Given the description of an element on the screen output the (x, y) to click on. 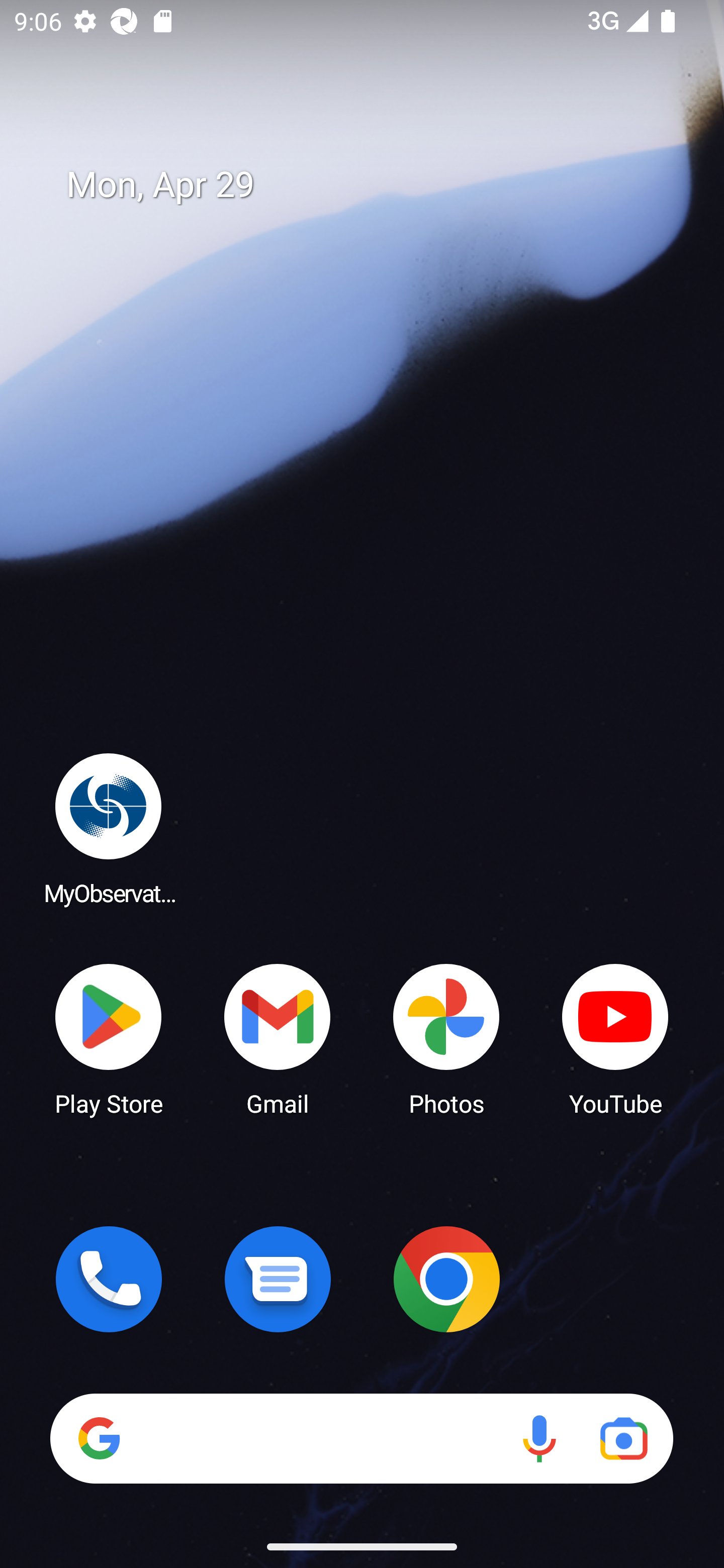
Mon, Apr 29 (375, 184)
MyObservatory (108, 828)
Play Store (108, 1038)
Gmail (277, 1038)
Photos (445, 1038)
YouTube (615, 1038)
Phone (108, 1279)
Messages (277, 1279)
Chrome (446, 1279)
Voice search (539, 1438)
Google Lens (623, 1438)
